Given the description of an element on the screen output the (x, y) to click on. 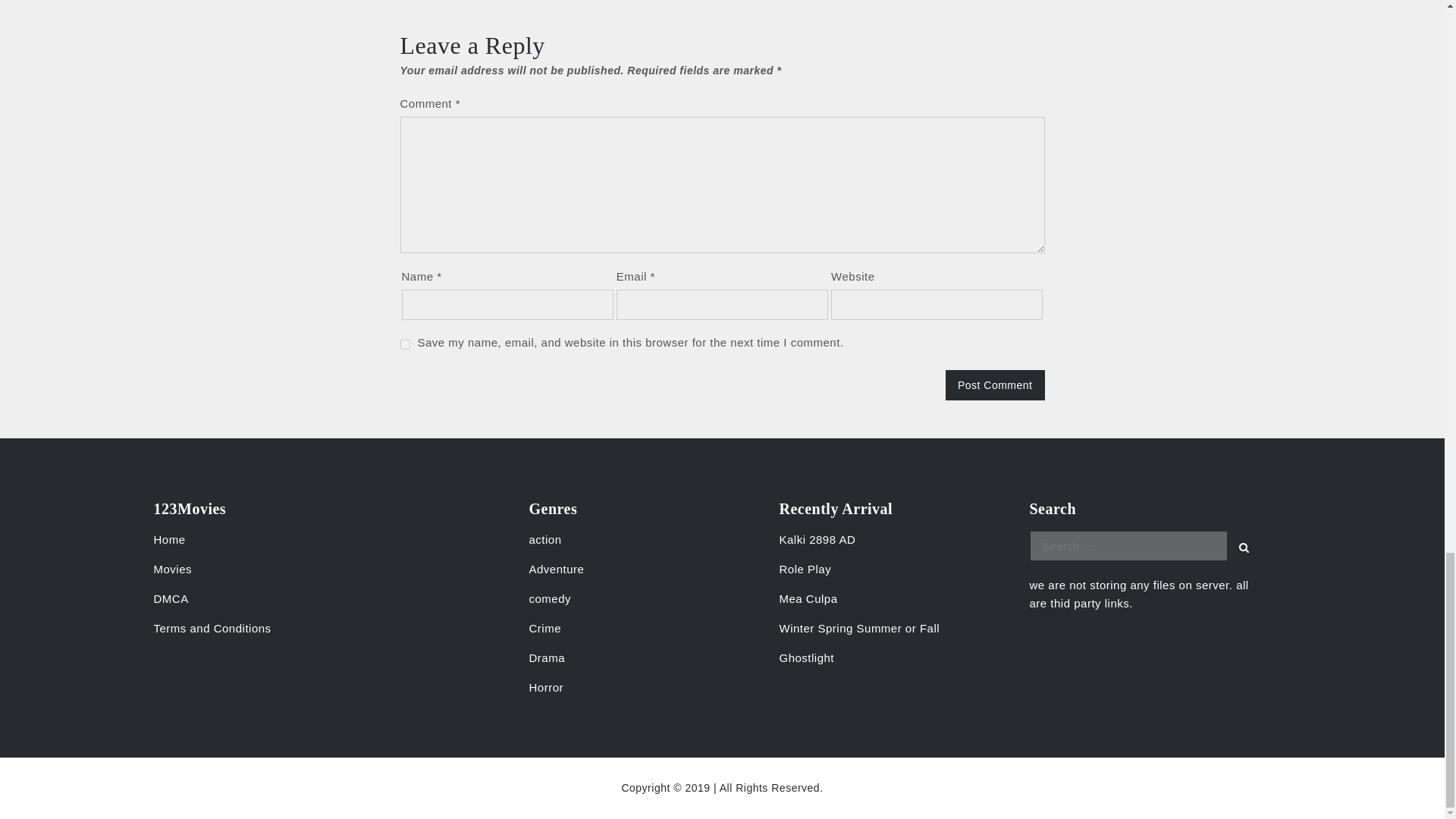
Post Comment (994, 385)
